Given the description of an element on the screen output the (x, y) to click on. 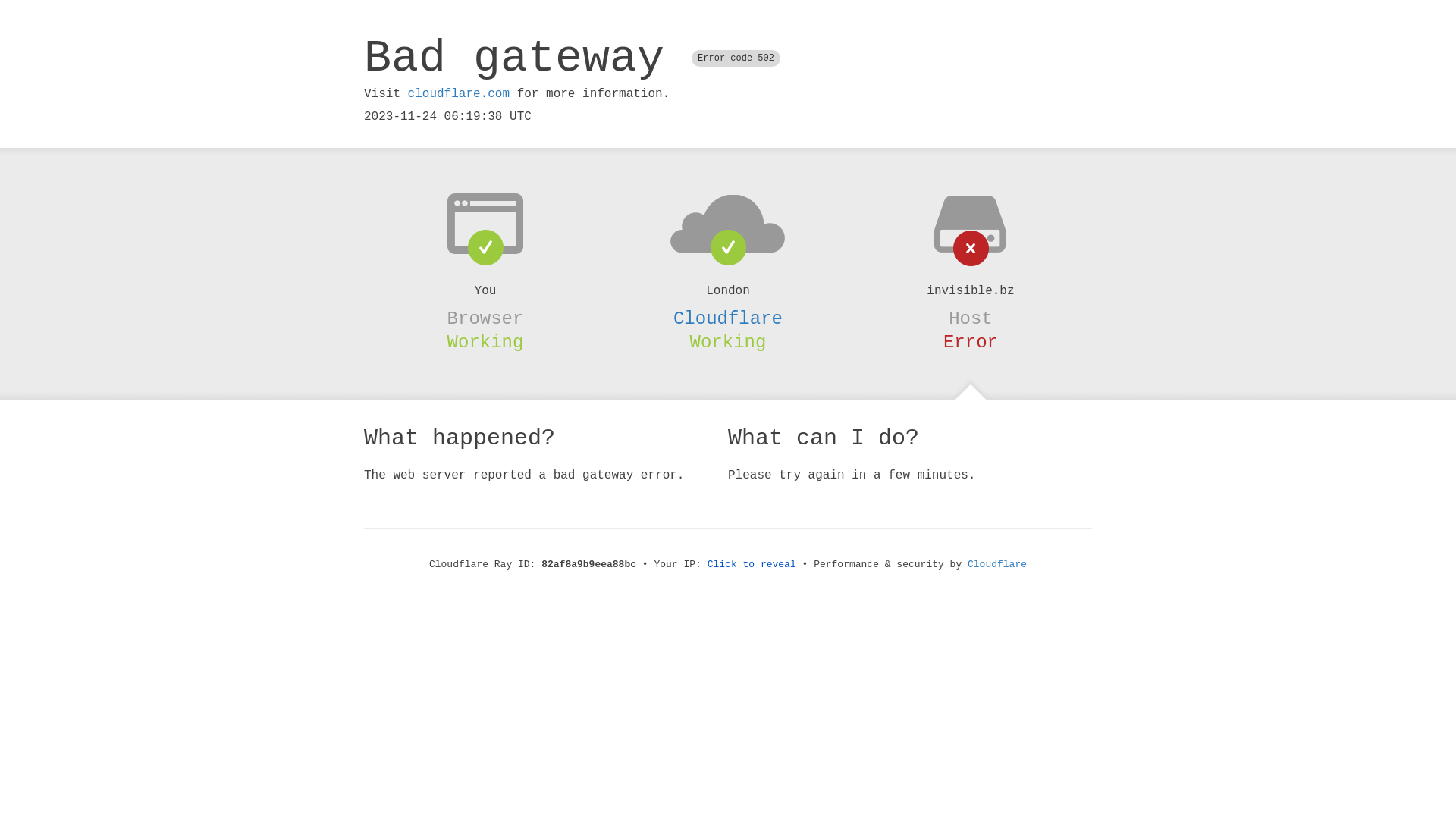
cloudflare.com Element type: text (458, 93)
Cloudflare Element type: text (727, 318)
Cloudflare Element type: text (996, 564)
Click to reveal Element type: text (751, 564)
